Given the description of an element on the screen output the (x, y) to click on. 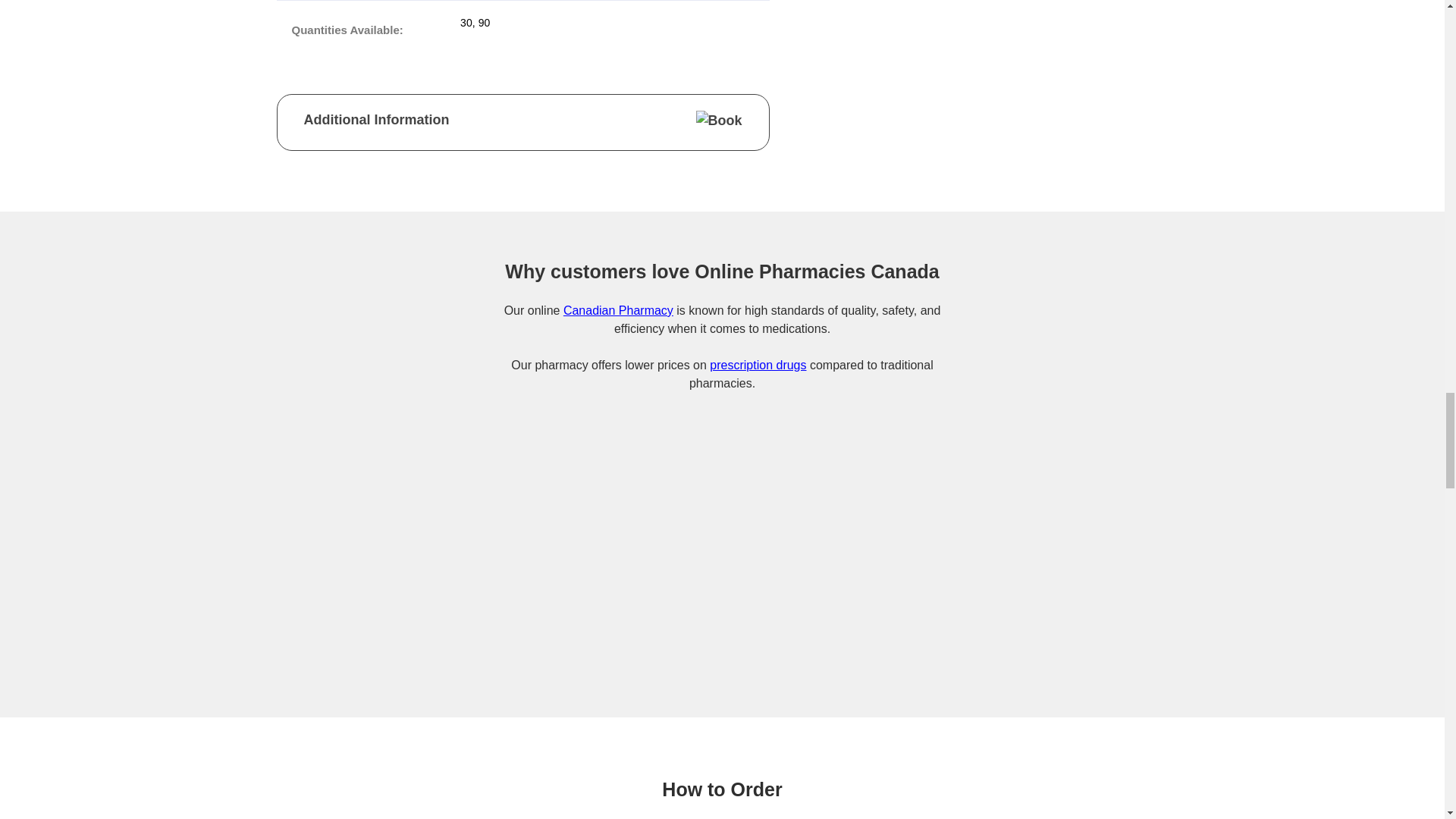
Prescription drugs from Canada (758, 364)
Reviews (1187, 594)
Canadian pharmacy (617, 309)
